Given the description of an element on the screen output the (x, y) to click on. 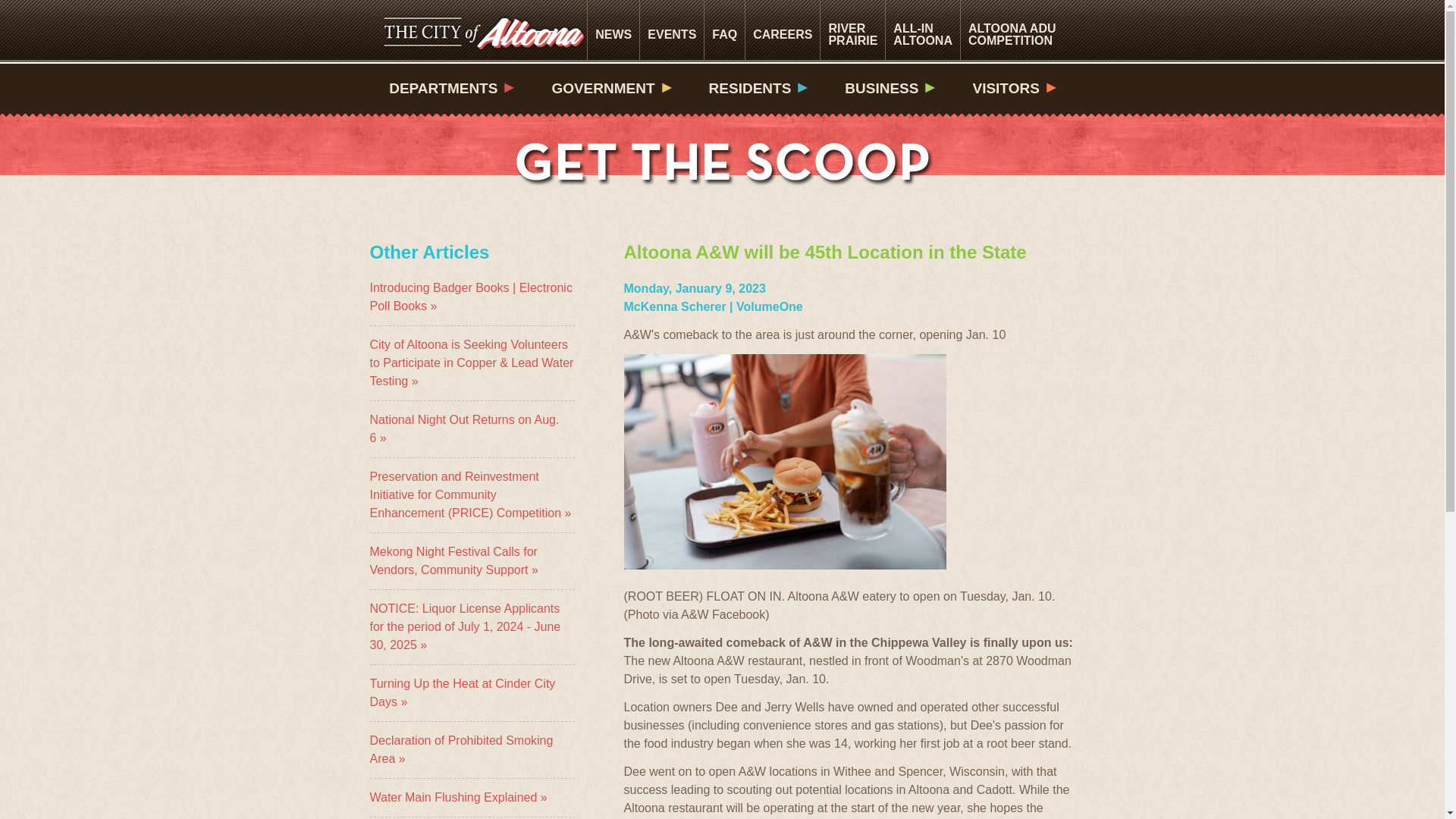
GOVERNMENT (610, 87)
CAREERS (782, 29)
EVENTS (853, 29)
RESIDENTS (671, 29)
BUSINESS (1012, 29)
DEPARTMENTS (758, 87)
VISITORS (889, 87)
